Given the description of an element on the screen output the (x, y) to click on. 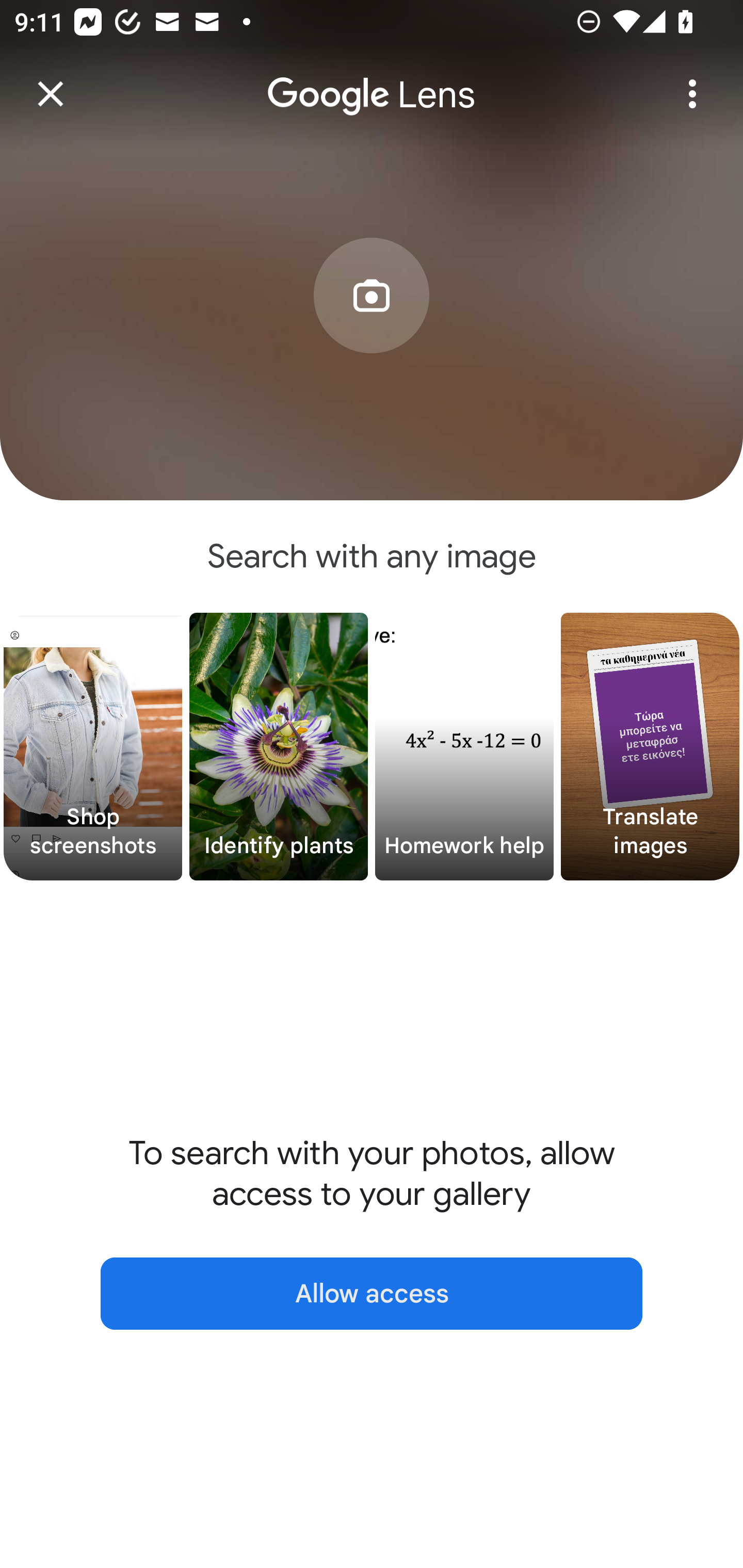
Google Lens Lens (371, 80)
Close (50, 94)
More options (692, 94)
Search with your camera (371, 326)
Shop screenshots (92, 747)
Identify plants (278, 747)
Homework help (464, 747)
Translate images (649, 747)
Allow access (371, 1293)
